Given the description of an element on the screen output the (x, y) to click on. 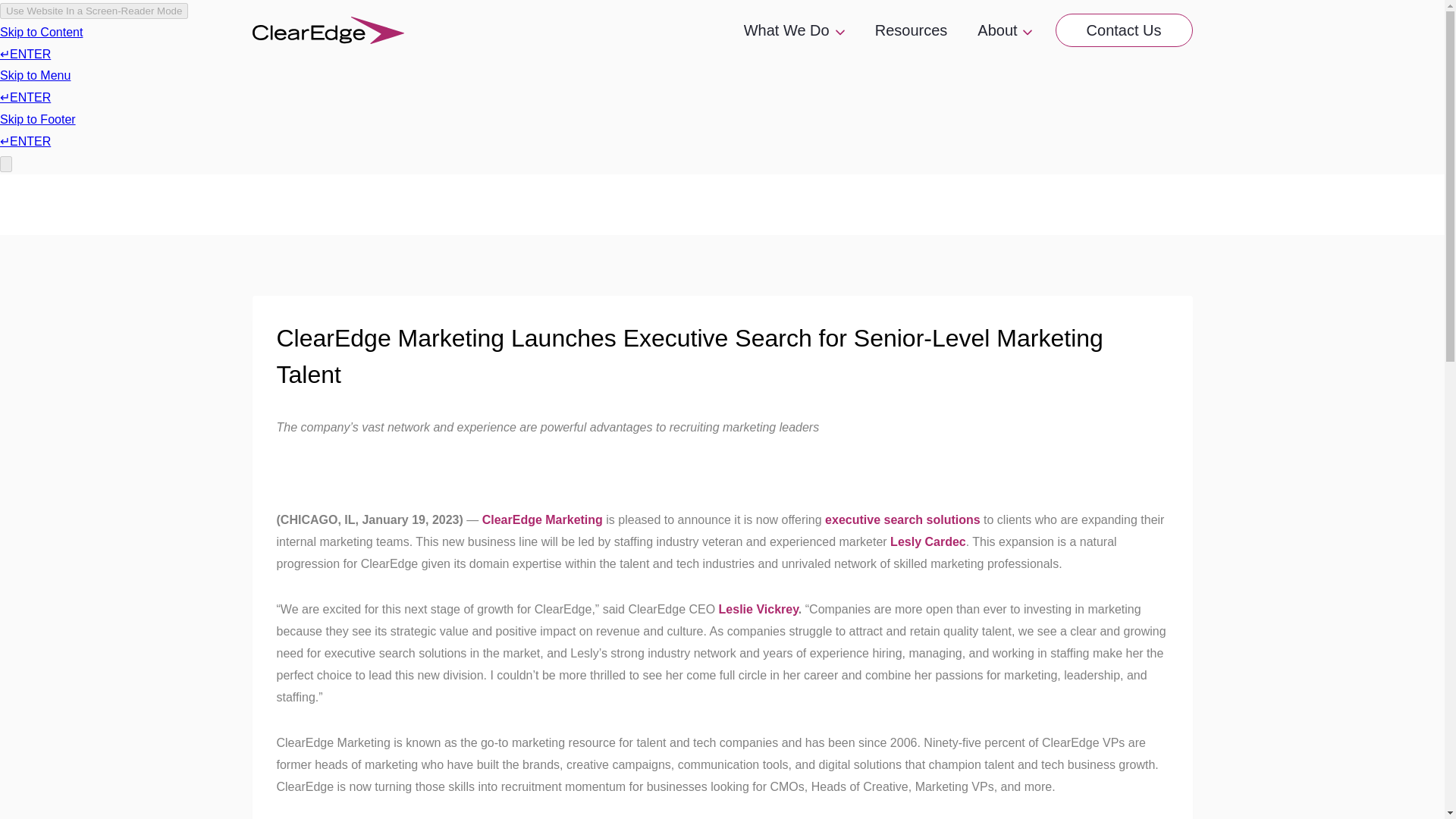
Contact Us (1123, 29)
Lesly Cardec (927, 541)
About (1004, 30)
Leslie Vickrey (758, 608)
executive search solutions (902, 519)
Resources (911, 30)
What We Do (794, 30)
ClearEdge Marketing (541, 519)
